Given the description of an element on the screen output the (x, y) to click on. 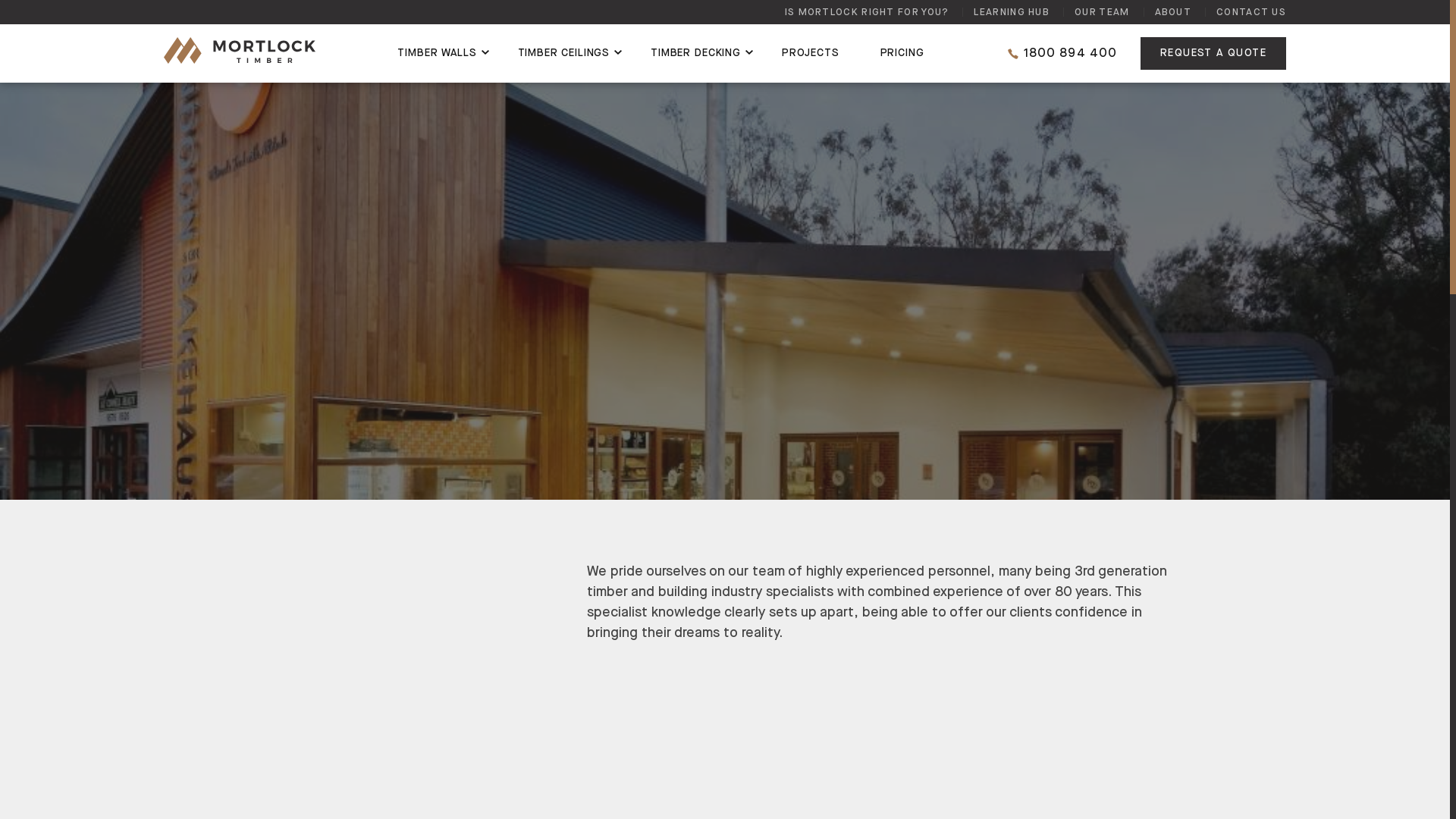
OUR TEAM Element type: text (1101, 12)
PROJECTS Element type: text (810, 53)
REQUEST A QUOTE Element type: text (1213, 53)
LEARNING HUB Element type: text (1011, 12)
TIMBER WALLS Element type: text (436, 53)
CONTACT US Element type: text (1251, 12)
TIMBER DECKING Element type: text (695, 53)
ABOUT Element type: text (1172, 12)
TIMBER CEILINGS Element type: text (563, 53)
PRICING Element type: text (902, 53)
1800 894 400 Element type: text (1061, 53)
IS MORTLOCK RIGHT FOR YOU? Element type: text (866, 12)
